Given the description of an element on the screen output the (x, y) to click on. 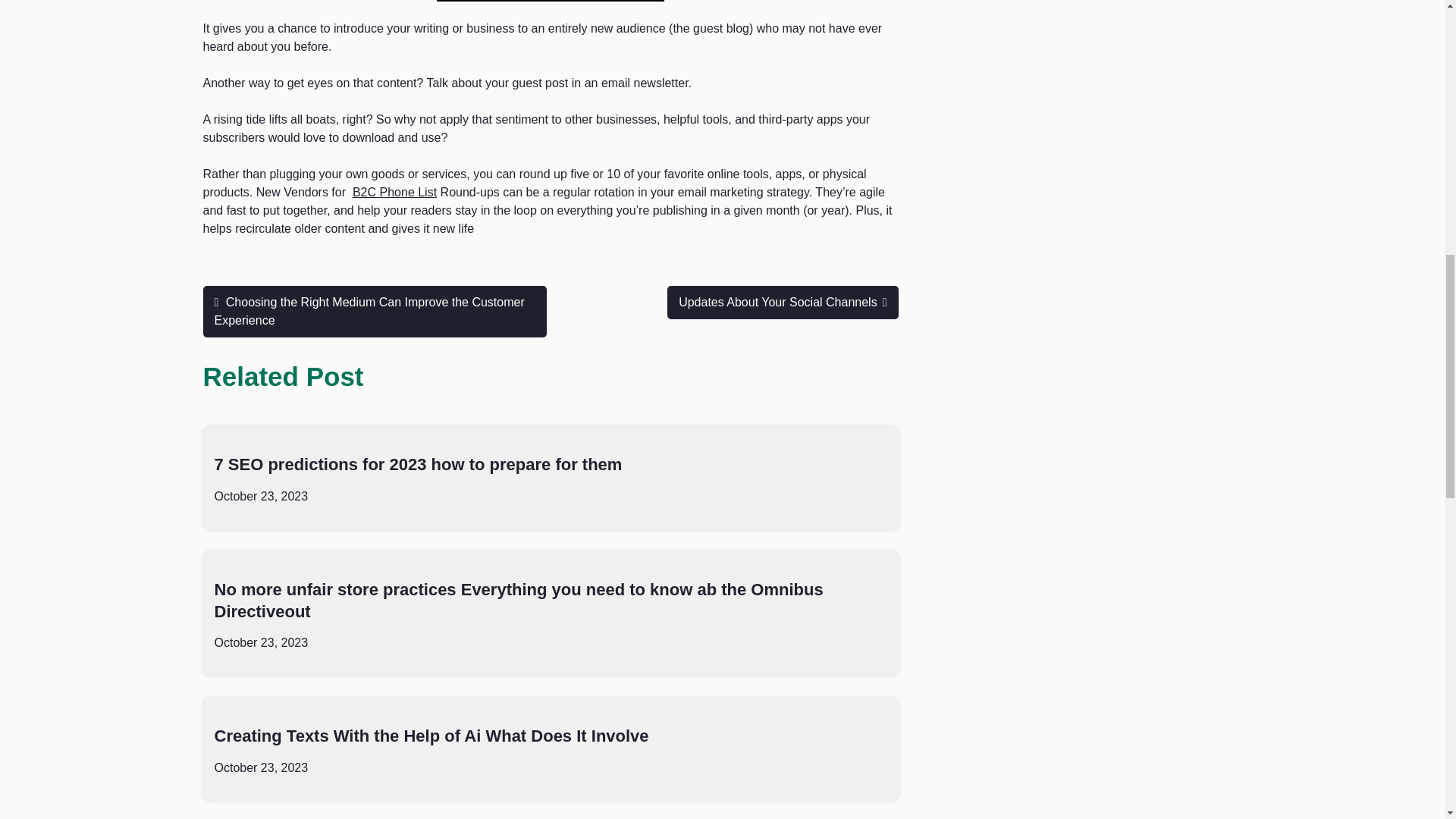
October 23, 2023 (260, 642)
B2C Phone List (394, 192)
October 23, 2023 (260, 495)
October 23, 2023 (260, 767)
Creating Texts With the Help of Ai What Does It Involve (430, 735)
Updates About Your Social Channels (782, 302)
7 SEO predictions for 2023 how to prepare for them (417, 464)
